Given the description of an element on the screen output the (x, y) to click on. 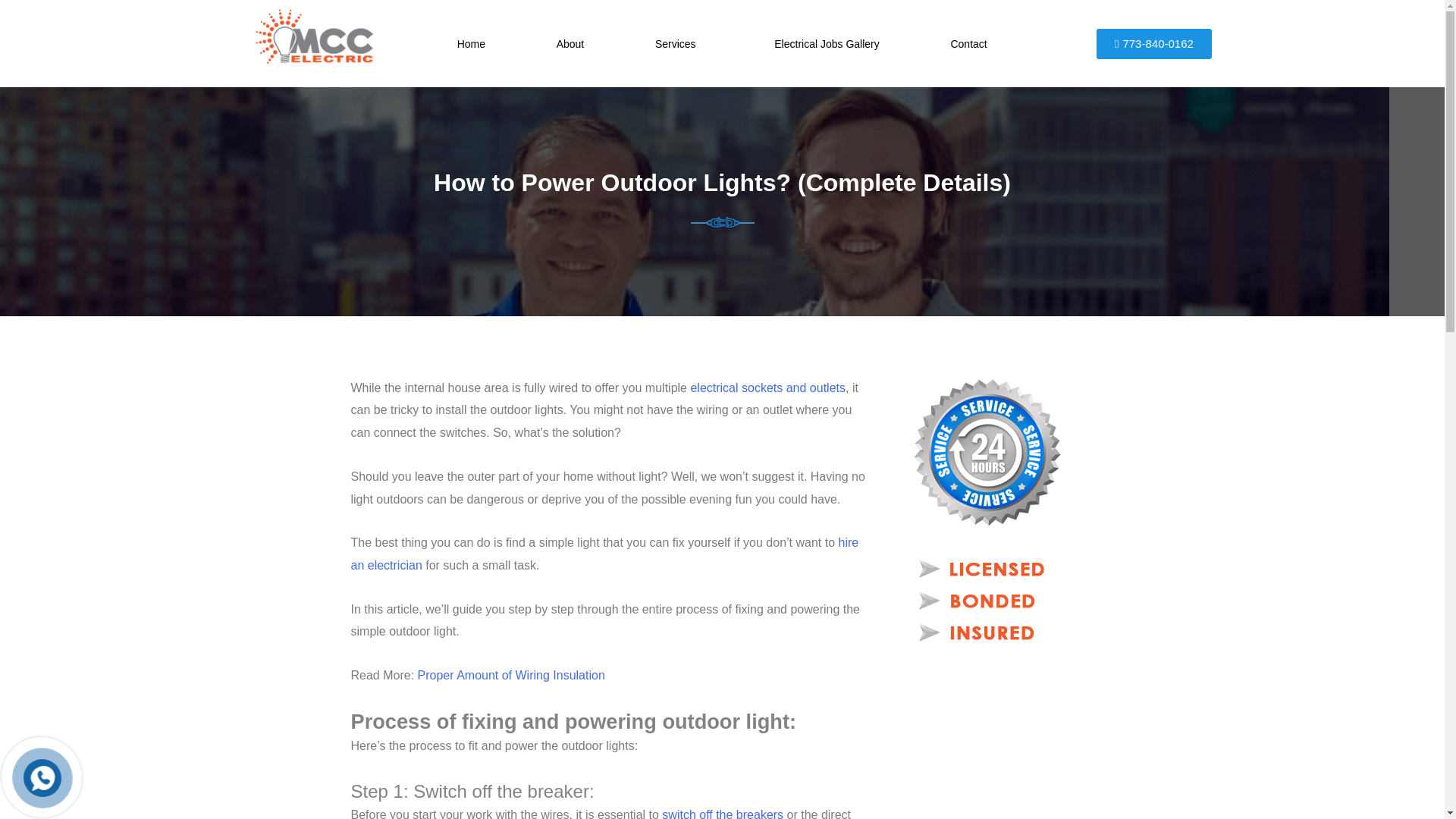
About (570, 43)
Services (679, 43)
Home (471, 43)
plug-free-img.png (722, 222)
